Given the description of an element on the screen output the (x, y) to click on. 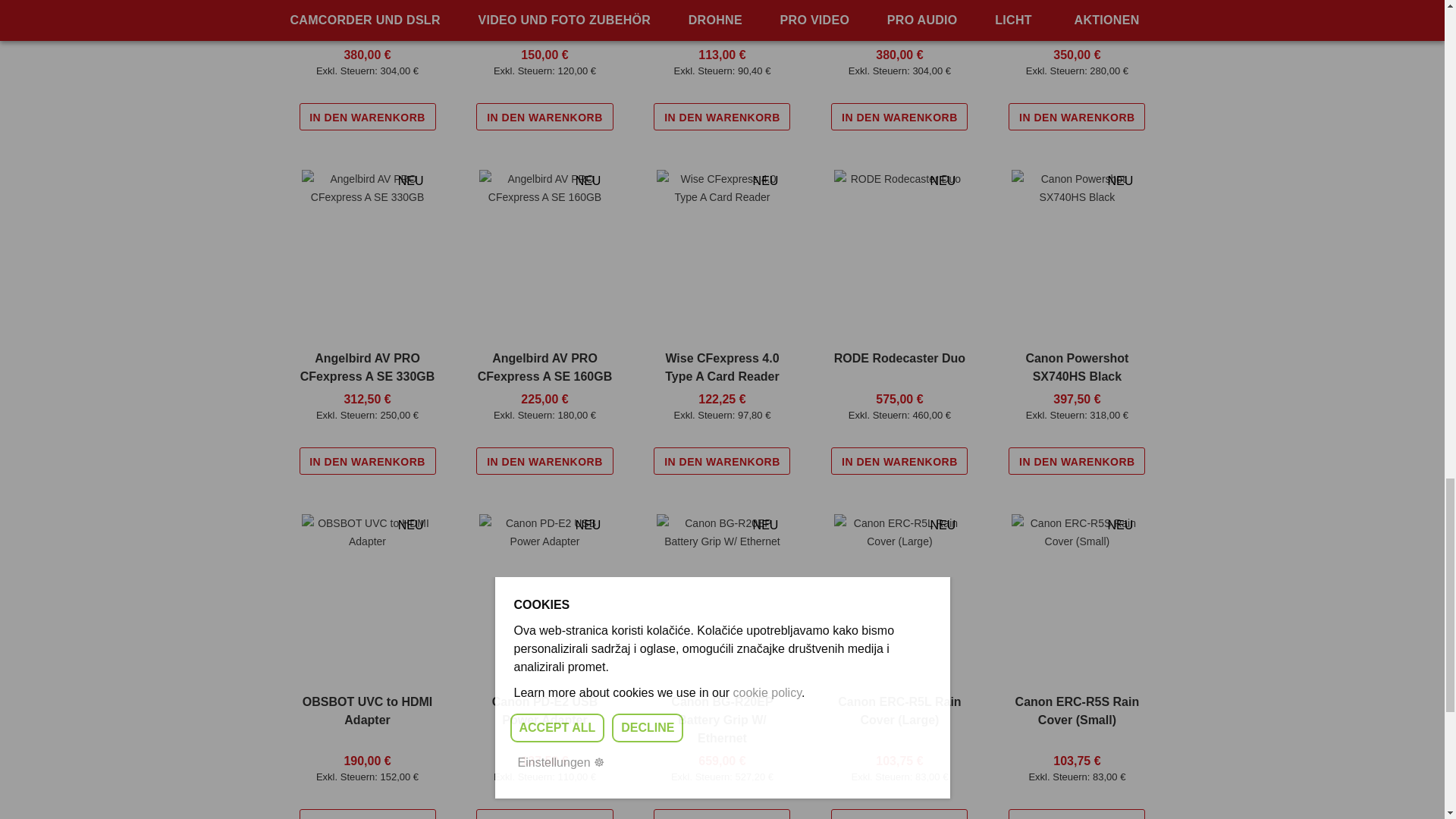
In den Warenkorb (366, 116)
Peak Design Travel Backpack 45L Coyote (366, 10)
Peak Design Everyday Sling 6L v2 - Coyote (545, 10)
In den Warenkorb (544, 116)
